Given the description of an element on the screen output the (x, y) to click on. 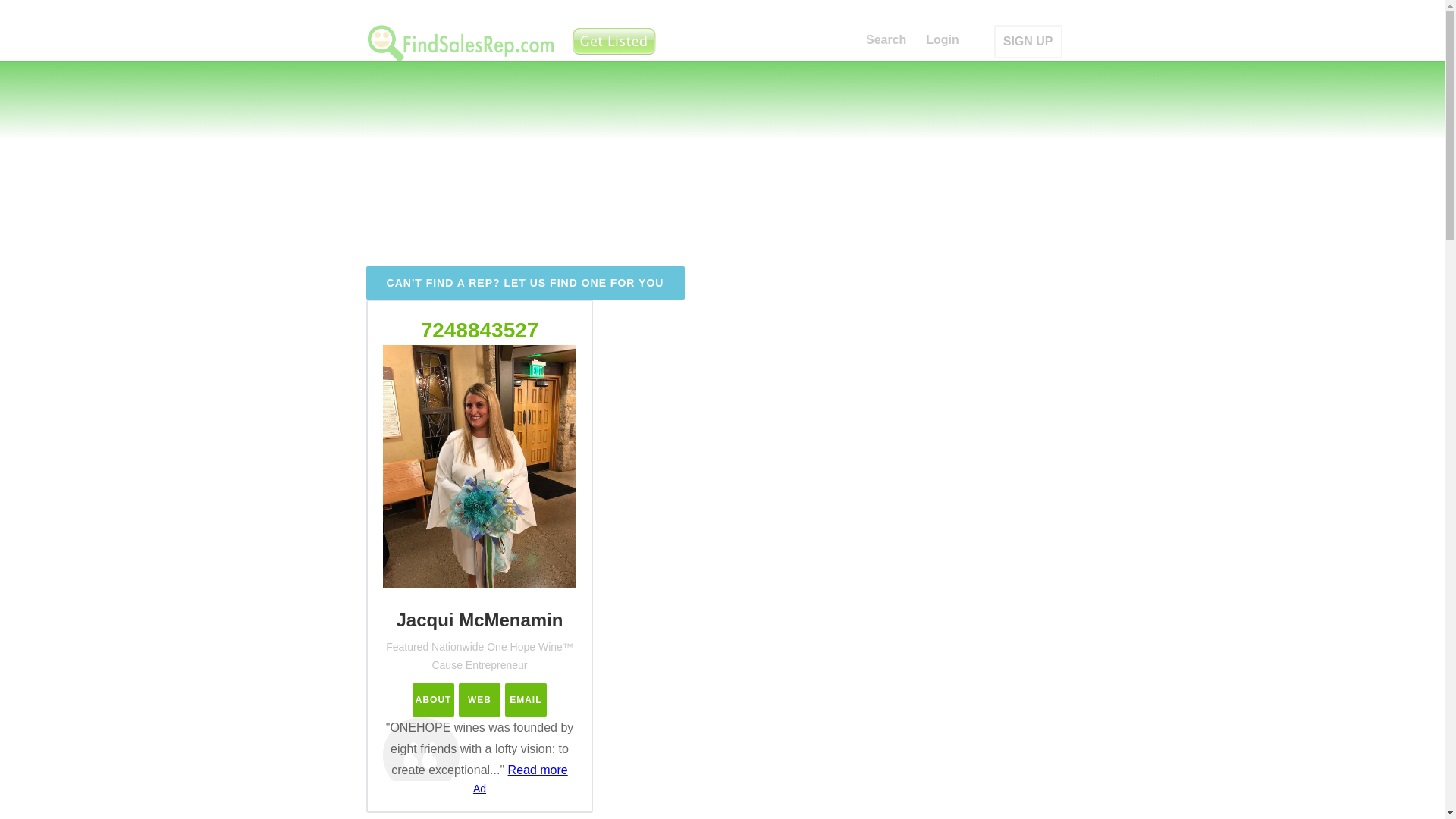
SIGN UP (1028, 41)
Ad (479, 788)
WEB (479, 699)
ABOUT (433, 699)
Search (885, 40)
Jacqui McMenamin (526, 699)
EMAIL (526, 699)
Read more (537, 769)
CAN'T FIND A REP? LET US FIND ONE FOR YOU (524, 282)
Login (942, 40)
